Given the description of an element on the screen output the (x, y) to click on. 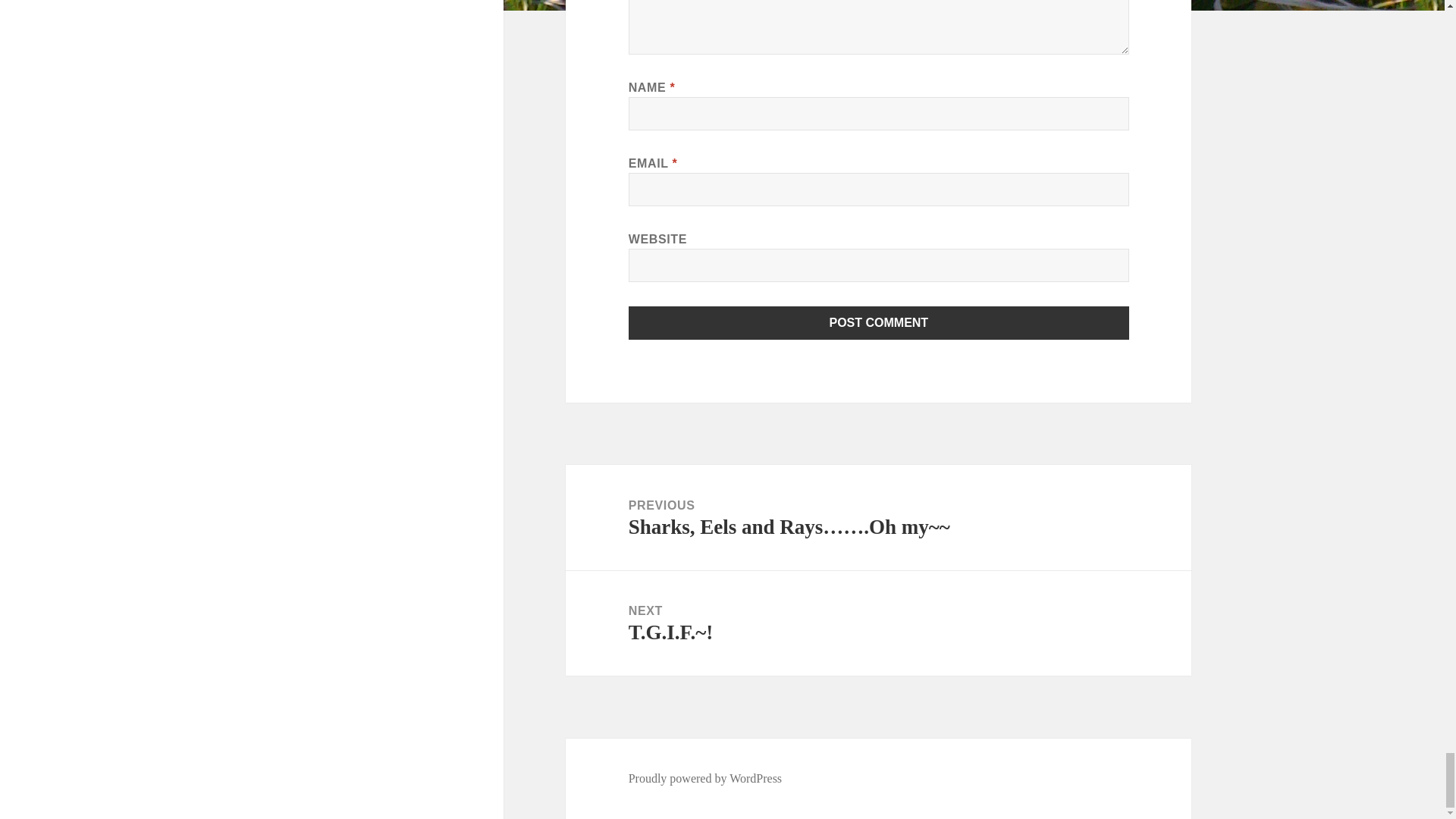
Proudly powered by WordPress (704, 778)
Post Comment (878, 322)
Post Comment (878, 322)
